Given the description of an element on the screen output the (x, y) to click on. 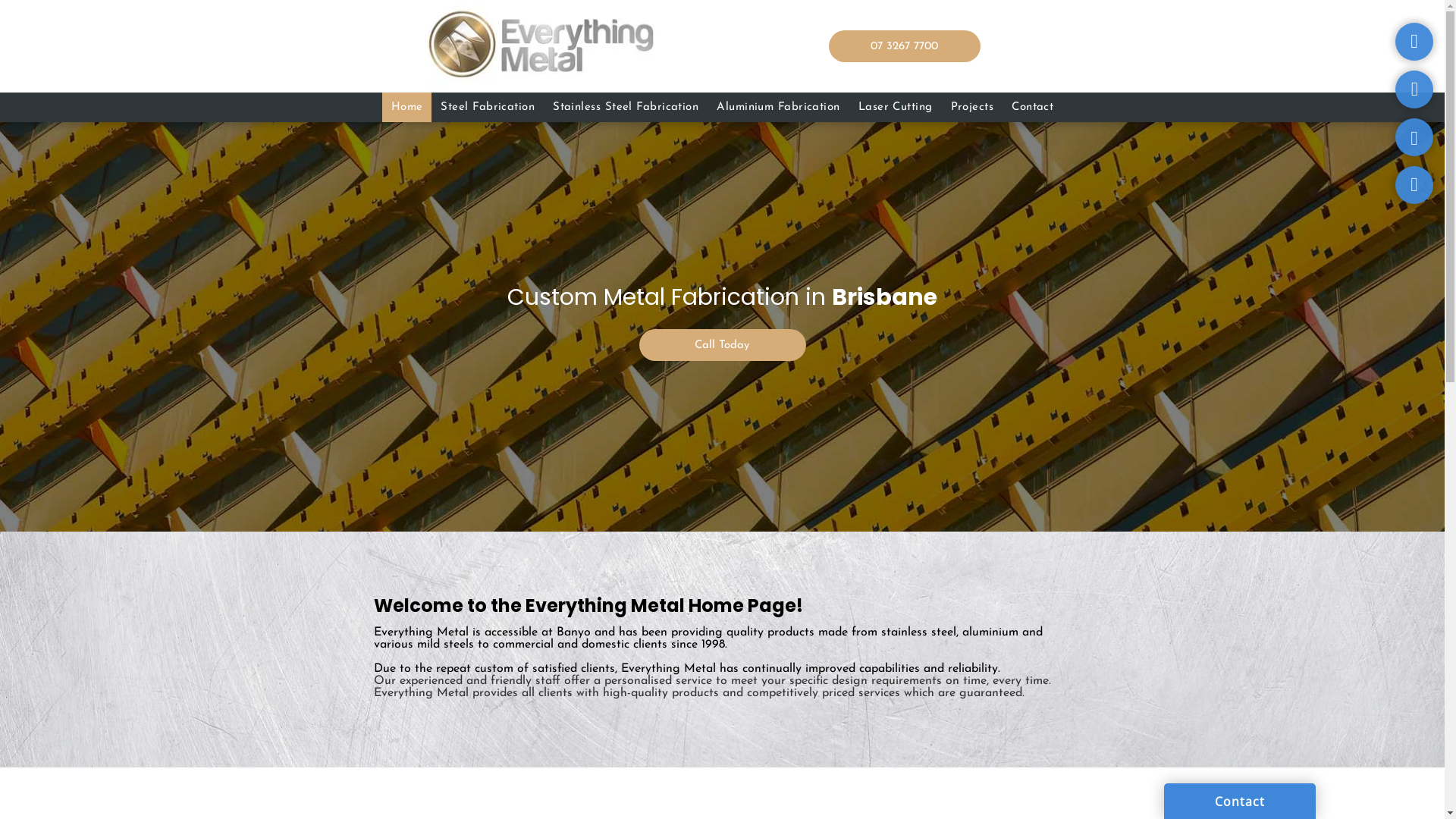
Steel Fabrication Element type: text (487, 107)
Stainless Steel Fabrication Element type: text (625, 107)
Call Today Element type: text (721, 344)
Aluminium Fabrication Element type: text (777, 107)
Home Element type: text (407, 107)
Projects Element type: text (972, 107)
Laser Cutting Element type: text (895, 107)
Contact Element type: text (1032, 107)
07 3267 7700 Element type: text (903, 46)
